Given the description of an element on the screen output the (x, y) to click on. 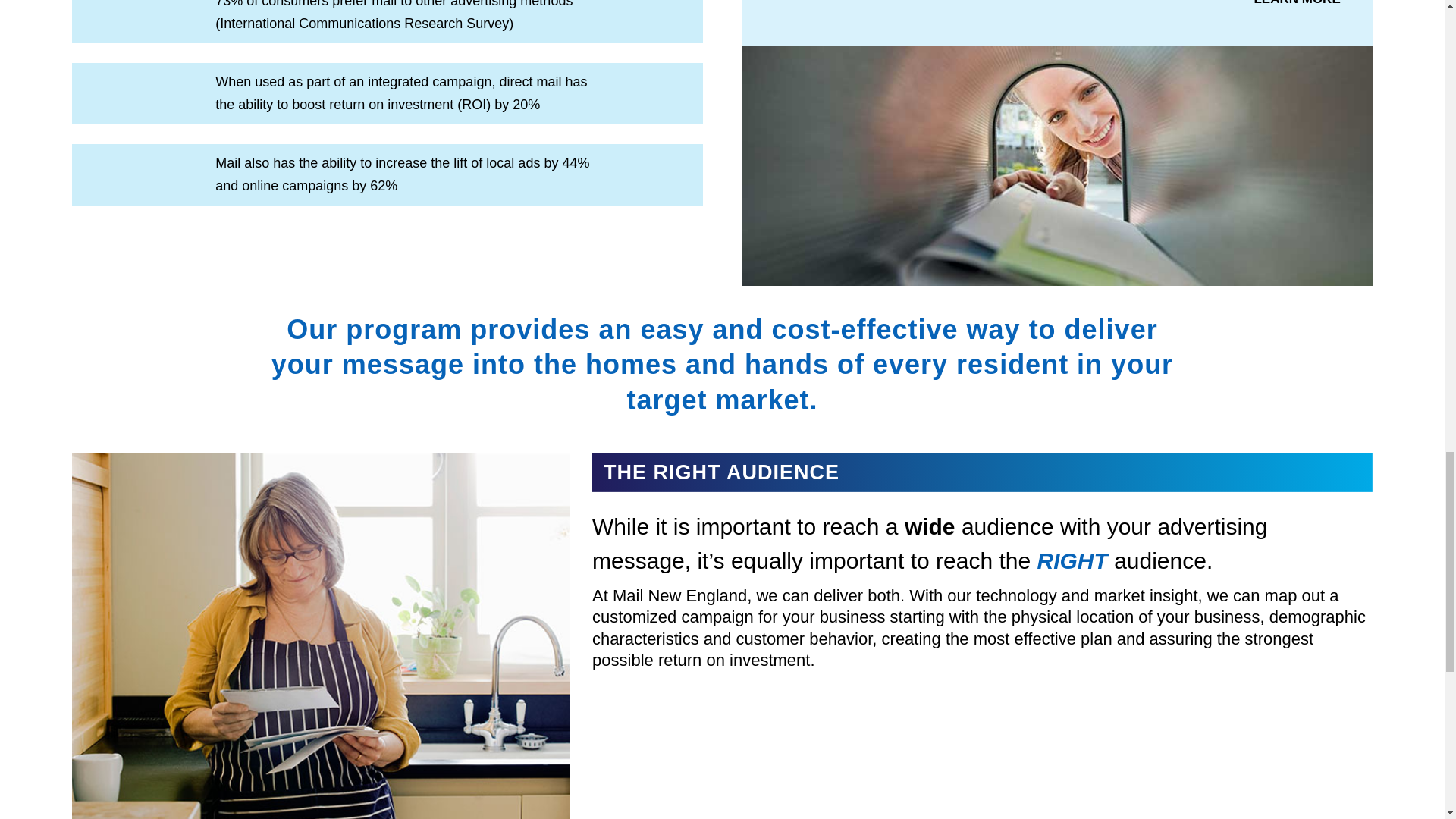
LEARN MORE (1296, 7)
